Given the description of an element on the screen output the (x, y) to click on. 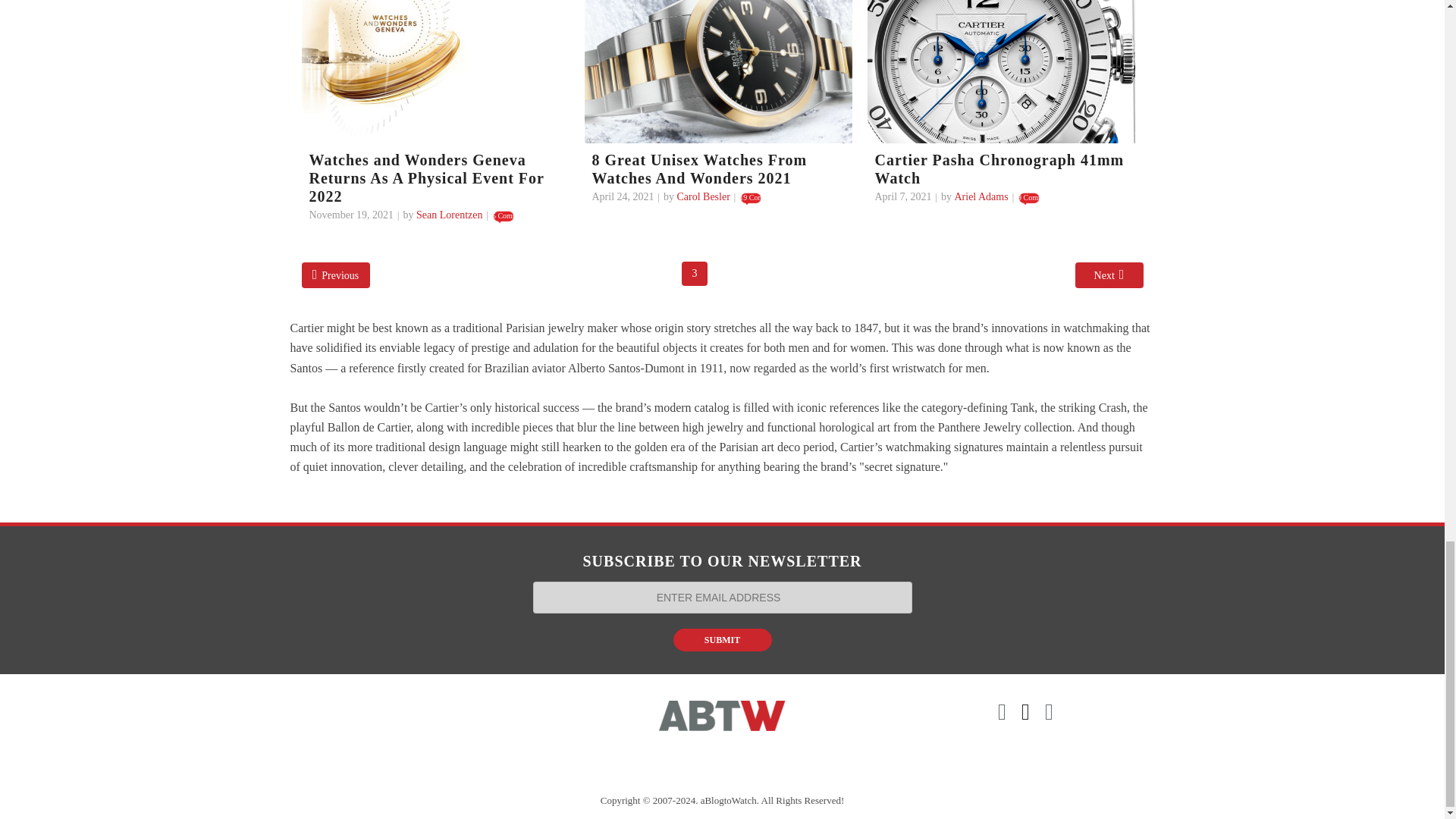
SUBMIT (721, 639)
